Given the description of an element on the screen output the (x, y) to click on. 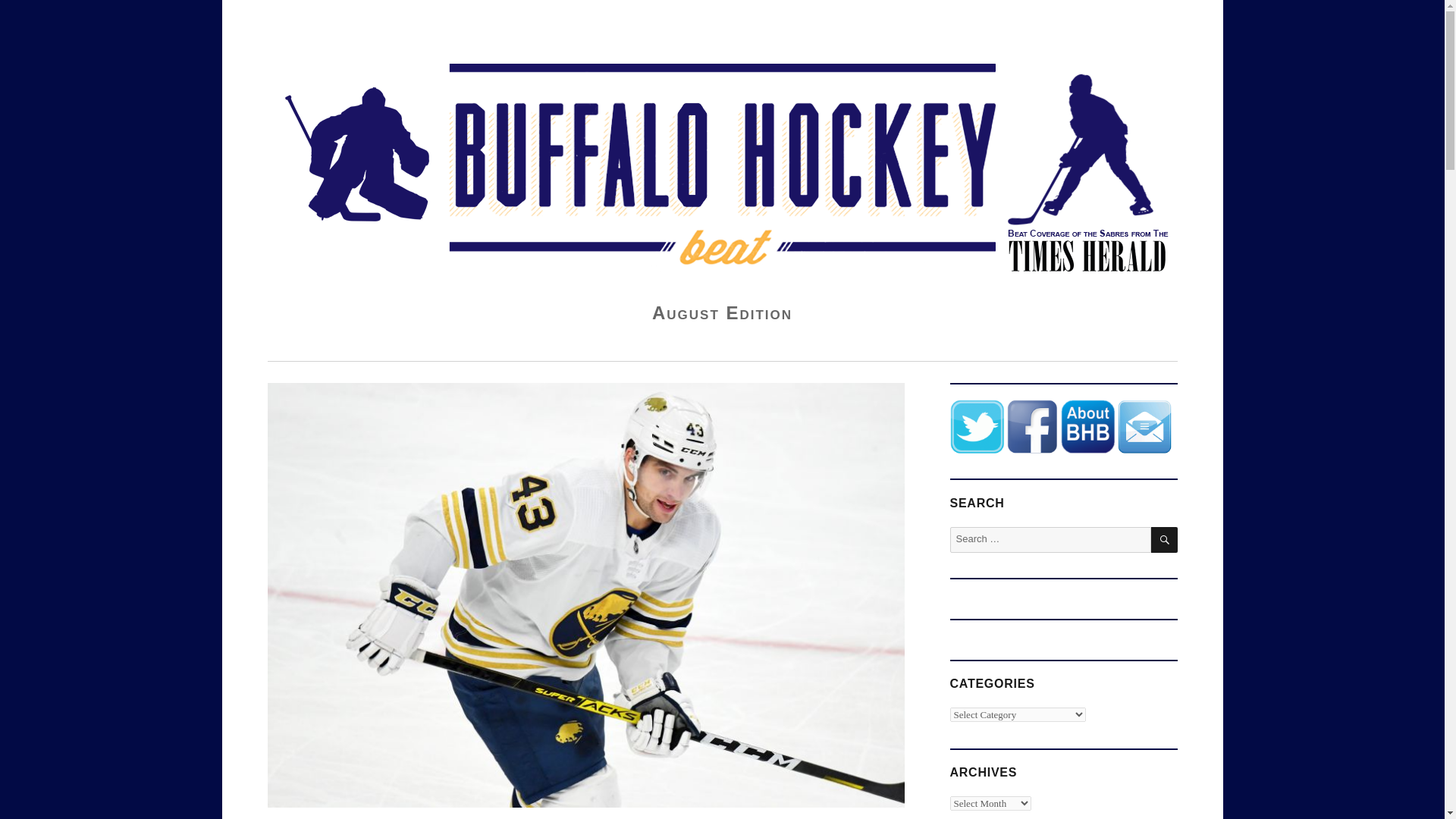
SEARCH (1164, 539)
Buffalo Hockey Beat (369, 33)
